Given the description of an element on the screen output the (x, y) to click on. 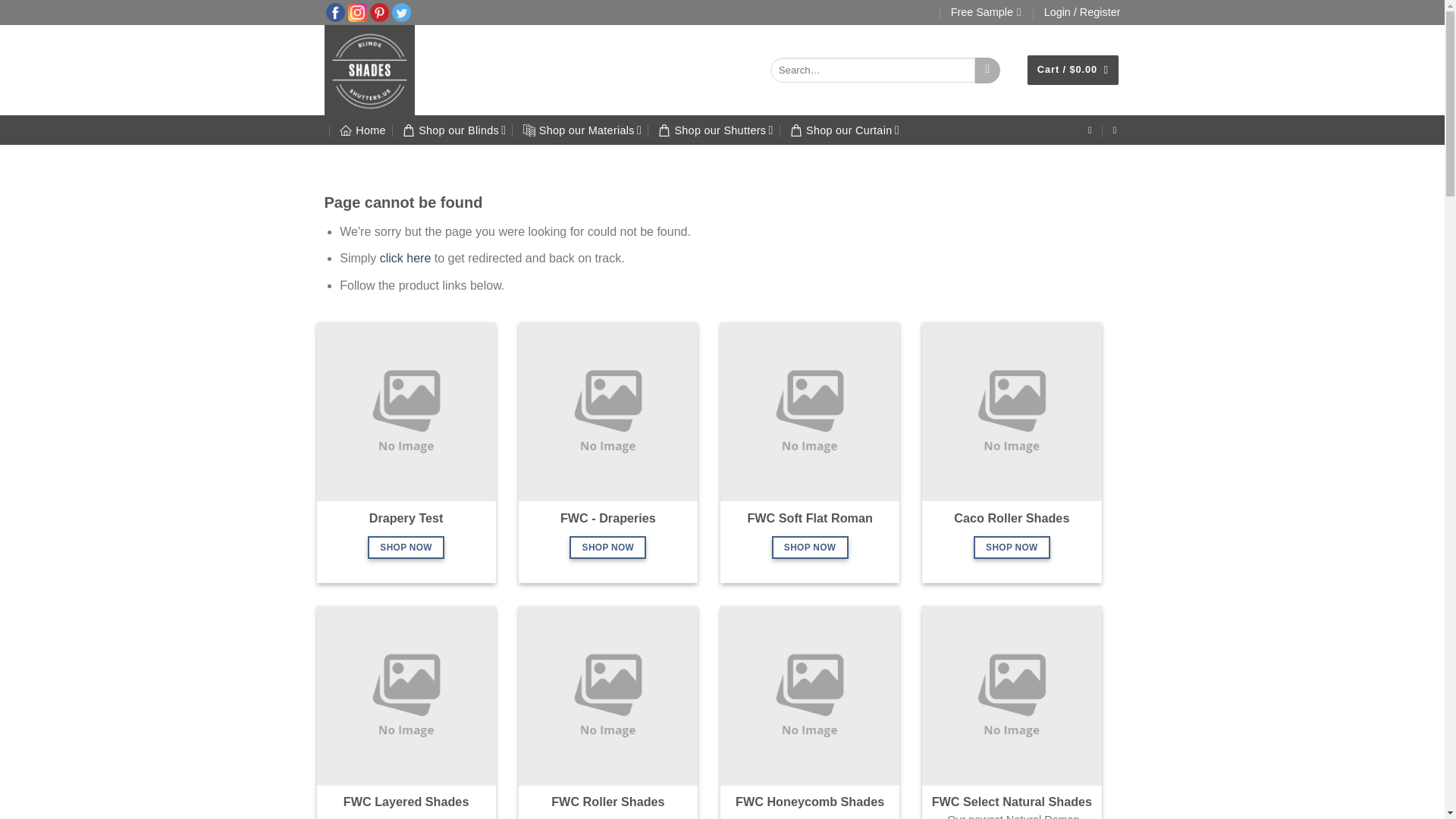
Blinds Shades Shutter (389, 70)
Cart (1072, 69)
Twitter (401, 11)
318-865-4444 (1115, 130)
Twitter (400, 12)
Instagram (356, 12)
Facebook (335, 12)
Instagram (357, 11)
Shop our Blinds (454, 129)
Pinterest (379, 11)
Pinterest (378, 12)
Home (362, 130)
Free Sample (986, 12)
Search (987, 70)
Facebook (335, 11)
